Given the description of an element on the screen output the (x, y) to click on. 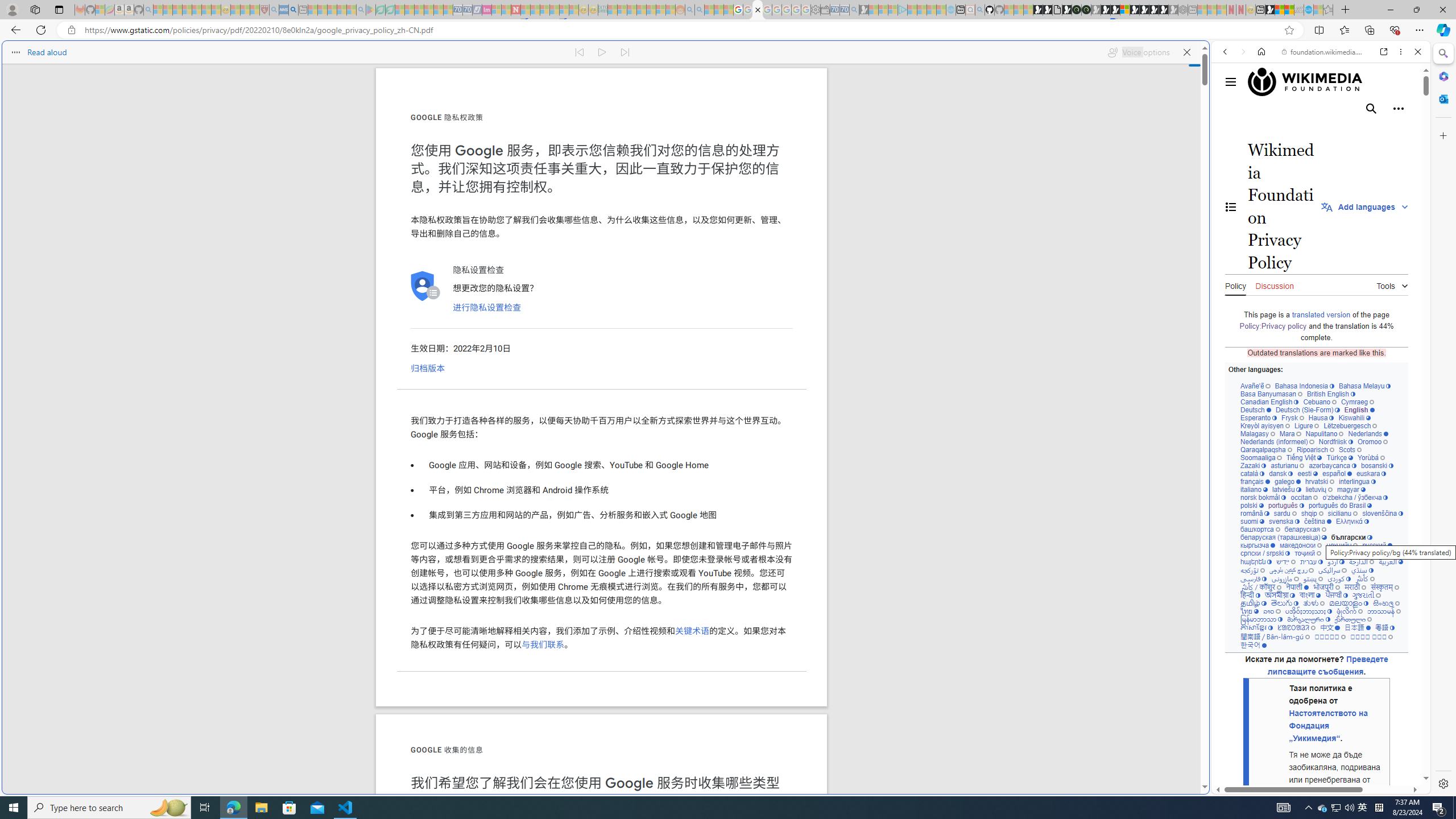
English (1358, 409)
Ripoarisch (1314, 449)
occitan (1303, 497)
Discussion (1274, 284)
